Given the description of an element on the screen output the (x, y) to click on. 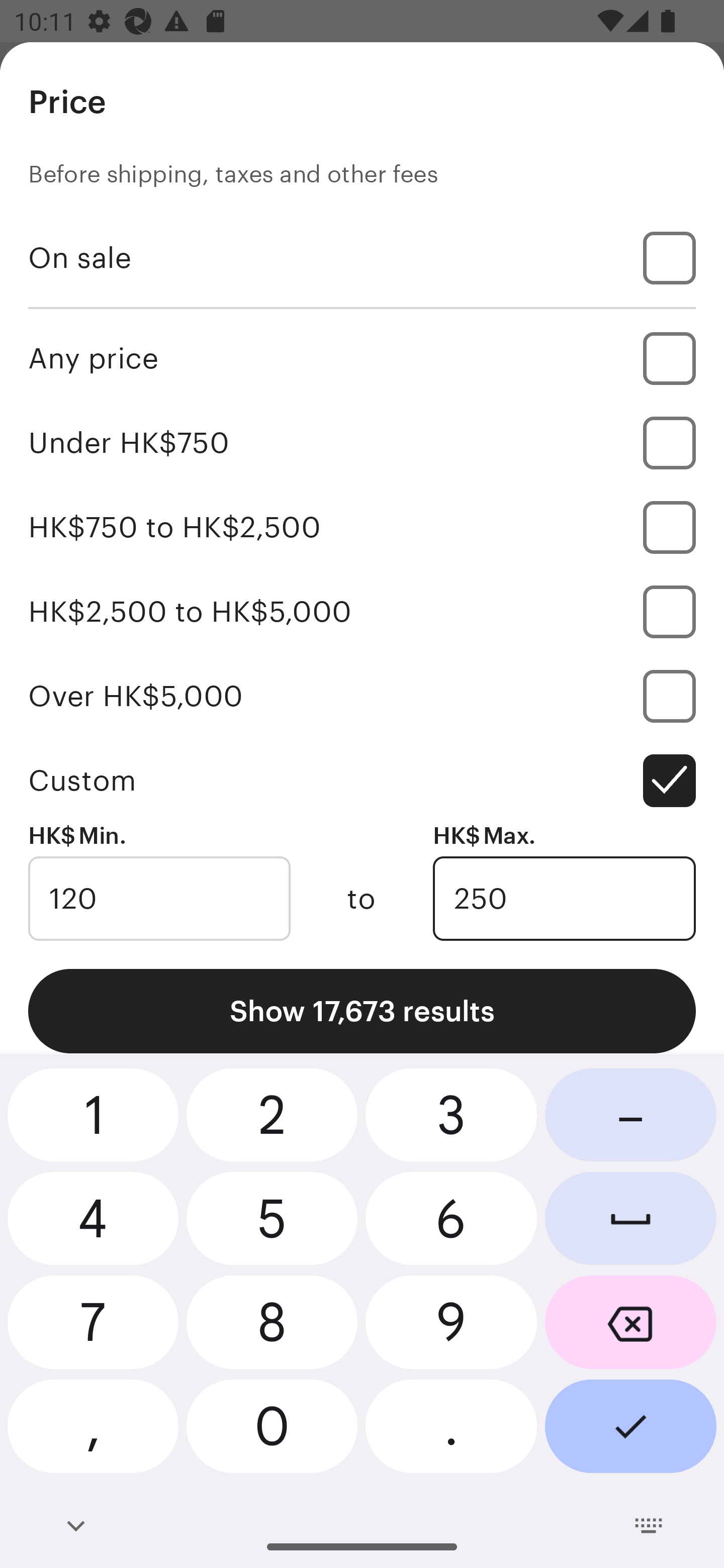
On sale (362, 257)
Any price (362, 357)
Under HK$750 (362, 441)
HK$750 to HK$2,500 (362, 526)
HK$2,500 to HK$5,000 (362, 611)
Over HK$5,000 (362, 695)
Custom (362, 780)
120 (159, 898)
250 (563, 898)
Show 17,673 results (361, 1011)
